Given the description of an element on the screen output the (x, y) to click on. 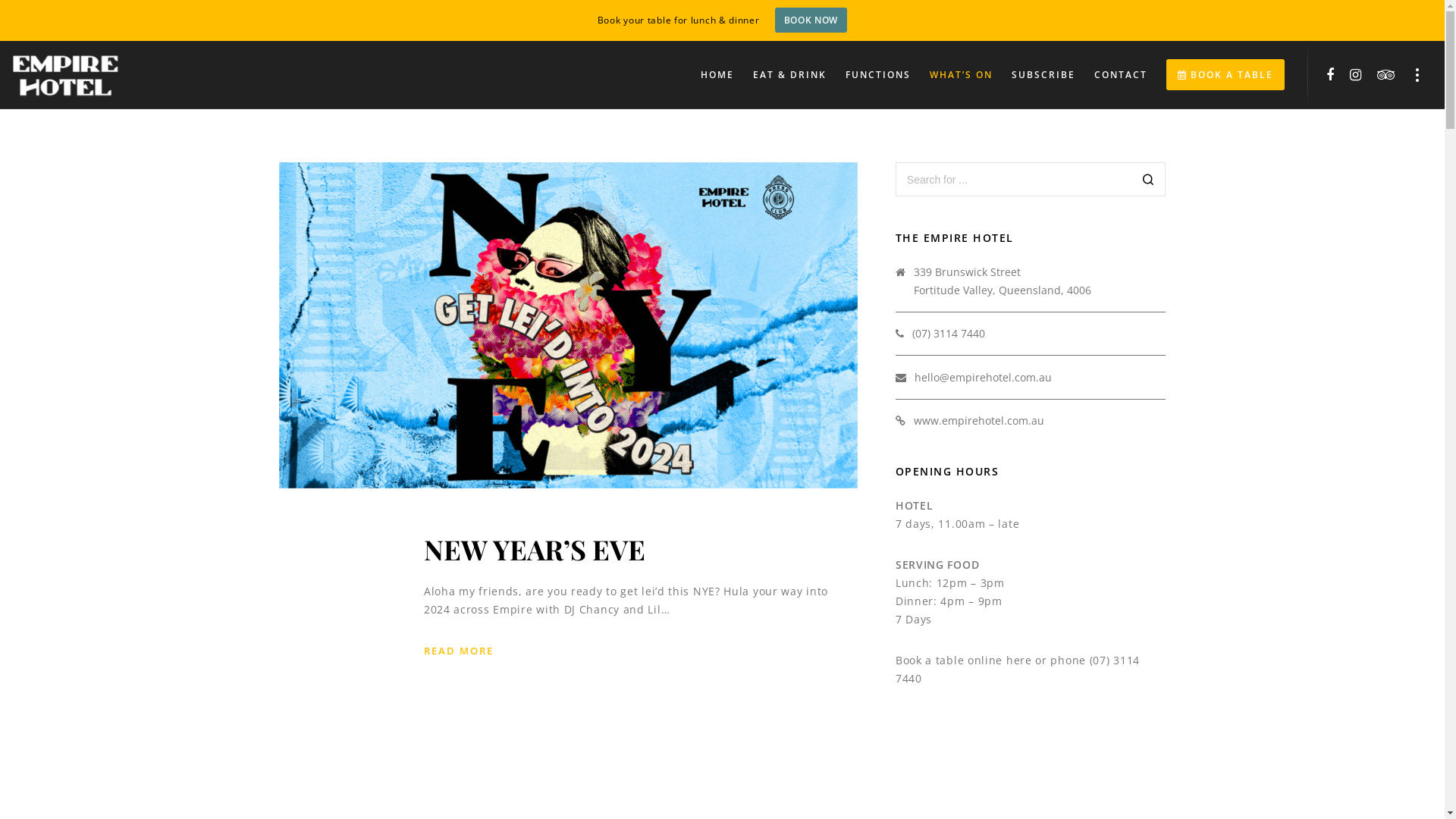
READ MORE Element type: text (457, 650)
EAT & DRINK Element type: text (780, 74)
hello@empirehotel.com.au Element type: text (982, 377)
BOOK NOW Element type: text (811, 19)
BOOK A TABLE Element type: text (1215, 74)
SUBSCRIBE Element type: text (1033, 74)
www.empirehotel.com.au Element type: text (978, 420)
CONTACT Element type: text (1111, 74)
Book a table online here Element type: text (963, 659)
HOME Element type: text (707, 74)
FUNCTIONS Element type: text (868, 74)
